Given the description of an element on the screen output the (x, y) to click on. 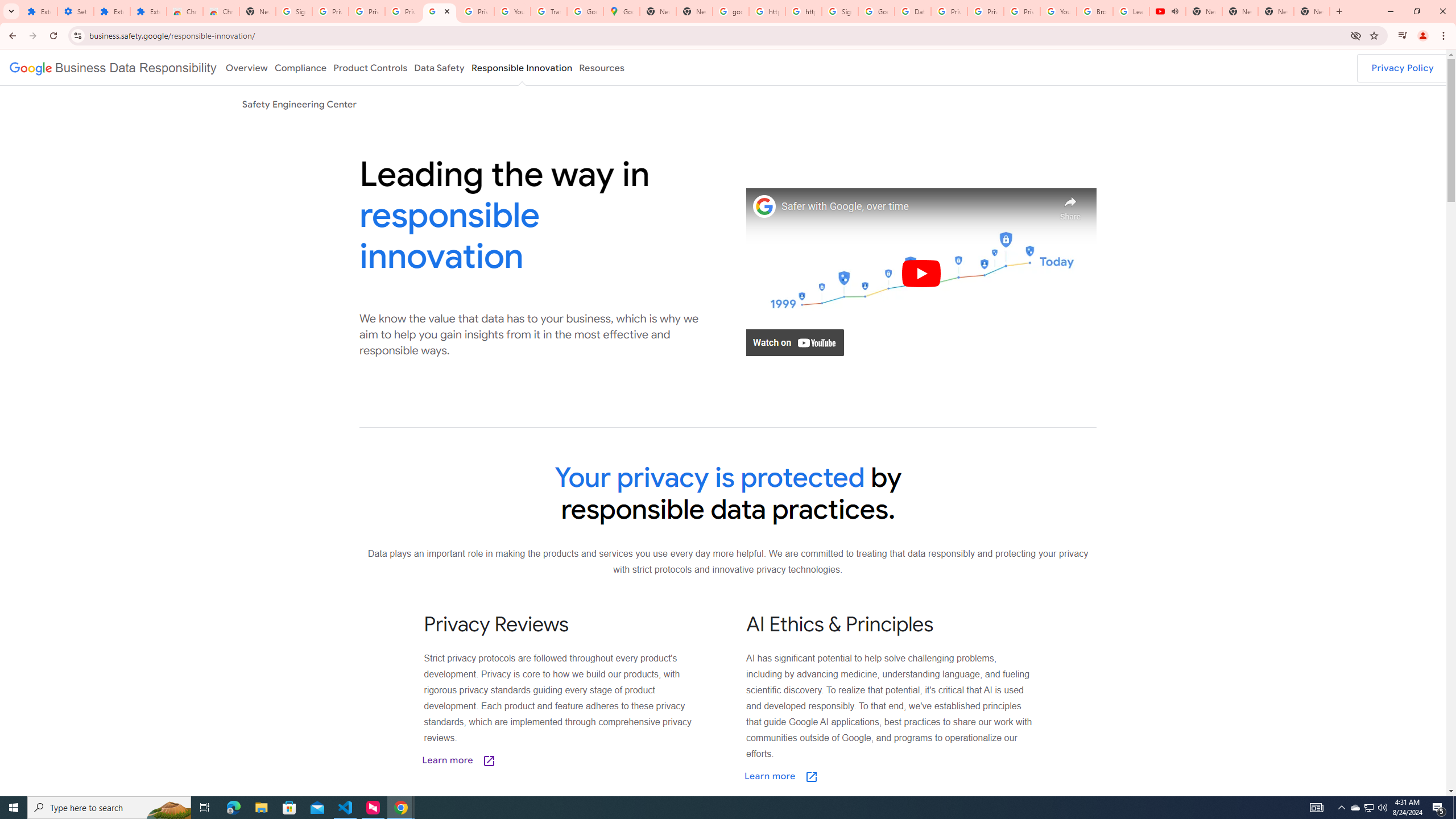
Browse Chrome as a guest - Computer - Google Chrome Help (1094, 11)
https://scholar.google.com/ (803, 11)
Chrome Web Store (184, 11)
New Tab (1311, 11)
Responsible Innovation (521, 67)
Sign in - Google Accounts (839, 11)
Privacy Help Center - Policies Help (985, 11)
Chrome Web Store - Themes (221, 11)
